Given the description of an element on the screen output the (x, y) to click on. 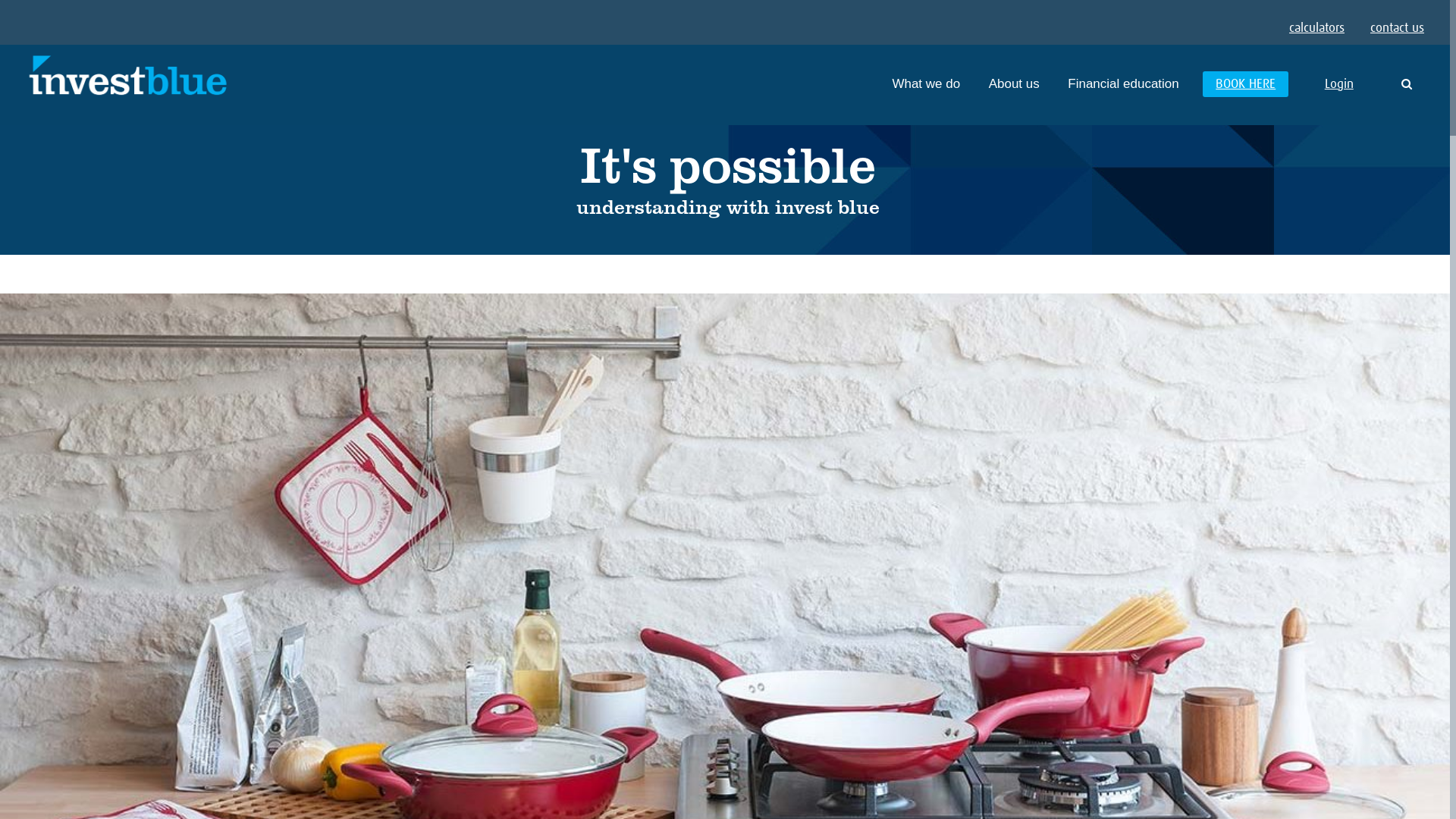
BOOK HERE Element type: text (1245, 84)
contact us Element type: text (1397, 28)
calculators Element type: text (1316, 28)
Login Element type: text (1339, 84)
What we do Element type: text (925, 83)
Financial education Element type: text (1123, 83)
About us Element type: text (1014, 83)
